Given the description of an element on the screen output the (x, y) to click on. 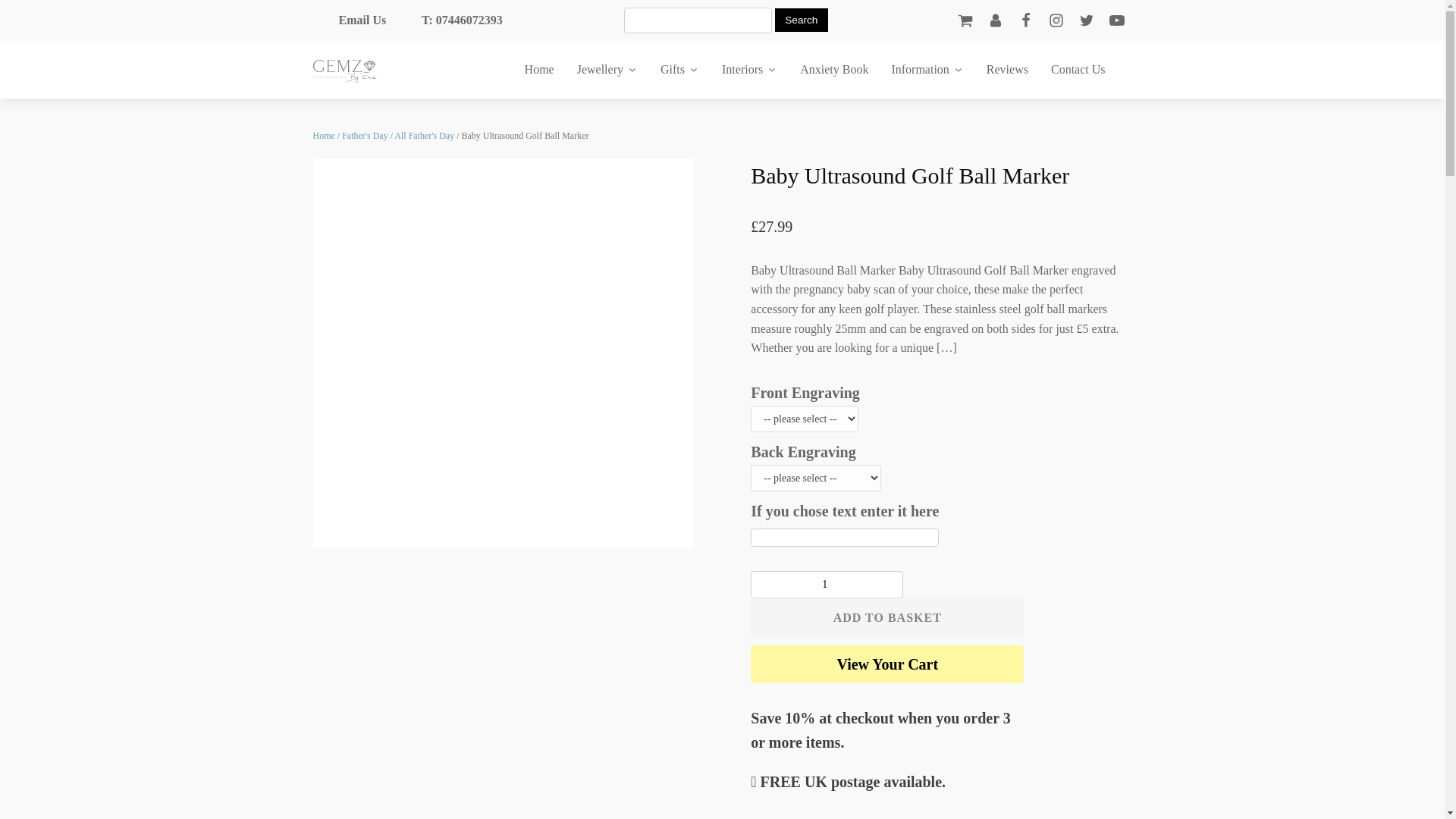
1 (826, 584)
Gifts (679, 69)
Search (801, 19)
Jewellery (607, 69)
T: 07446072393 (449, 20)
Home (539, 69)
Email Us (349, 20)
Search (801, 19)
